Given the description of an element on the screen output the (x, y) to click on. 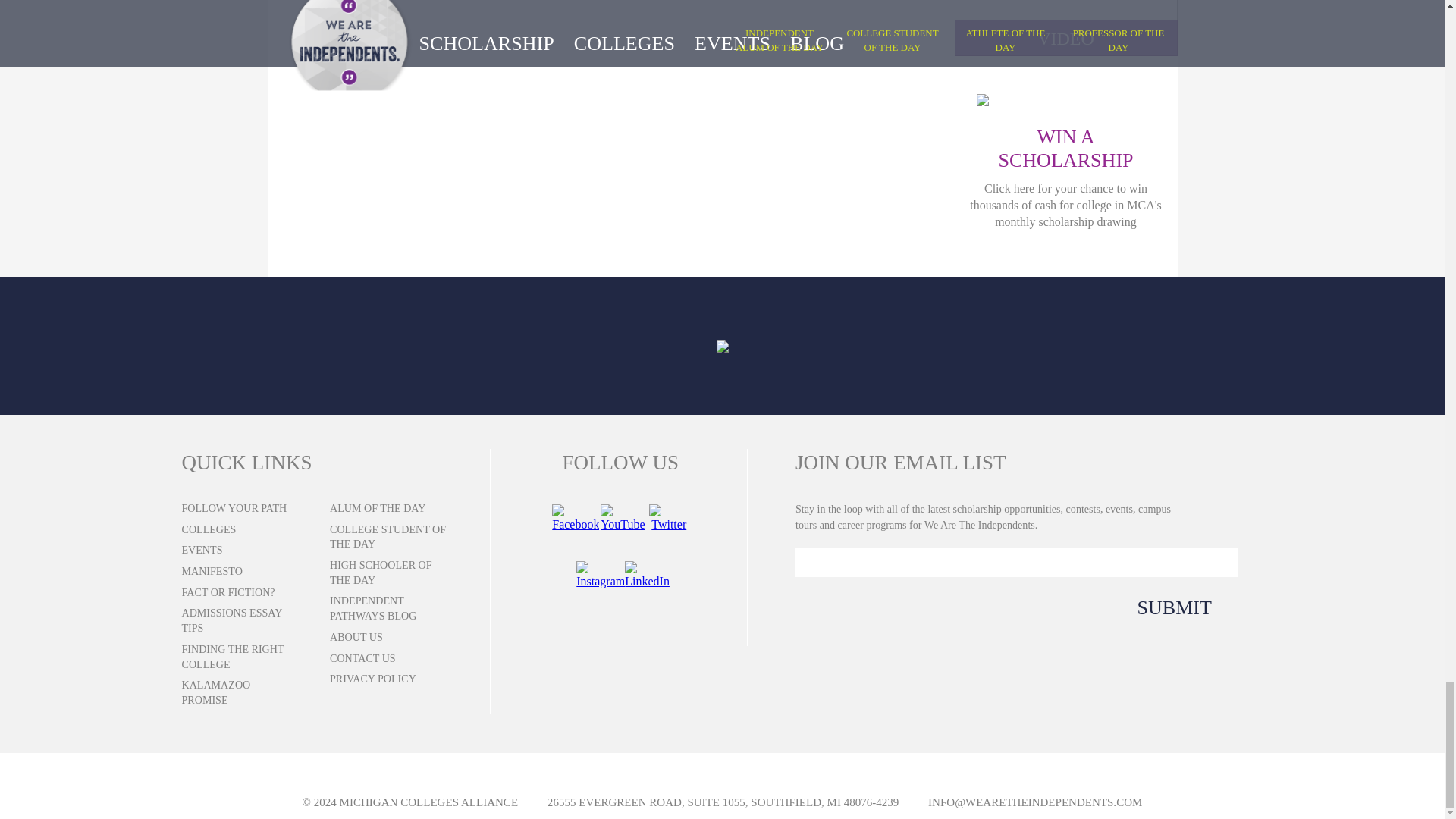
Submit (1160, 607)
